Given the description of an element on the screen output the (x, y) to click on. 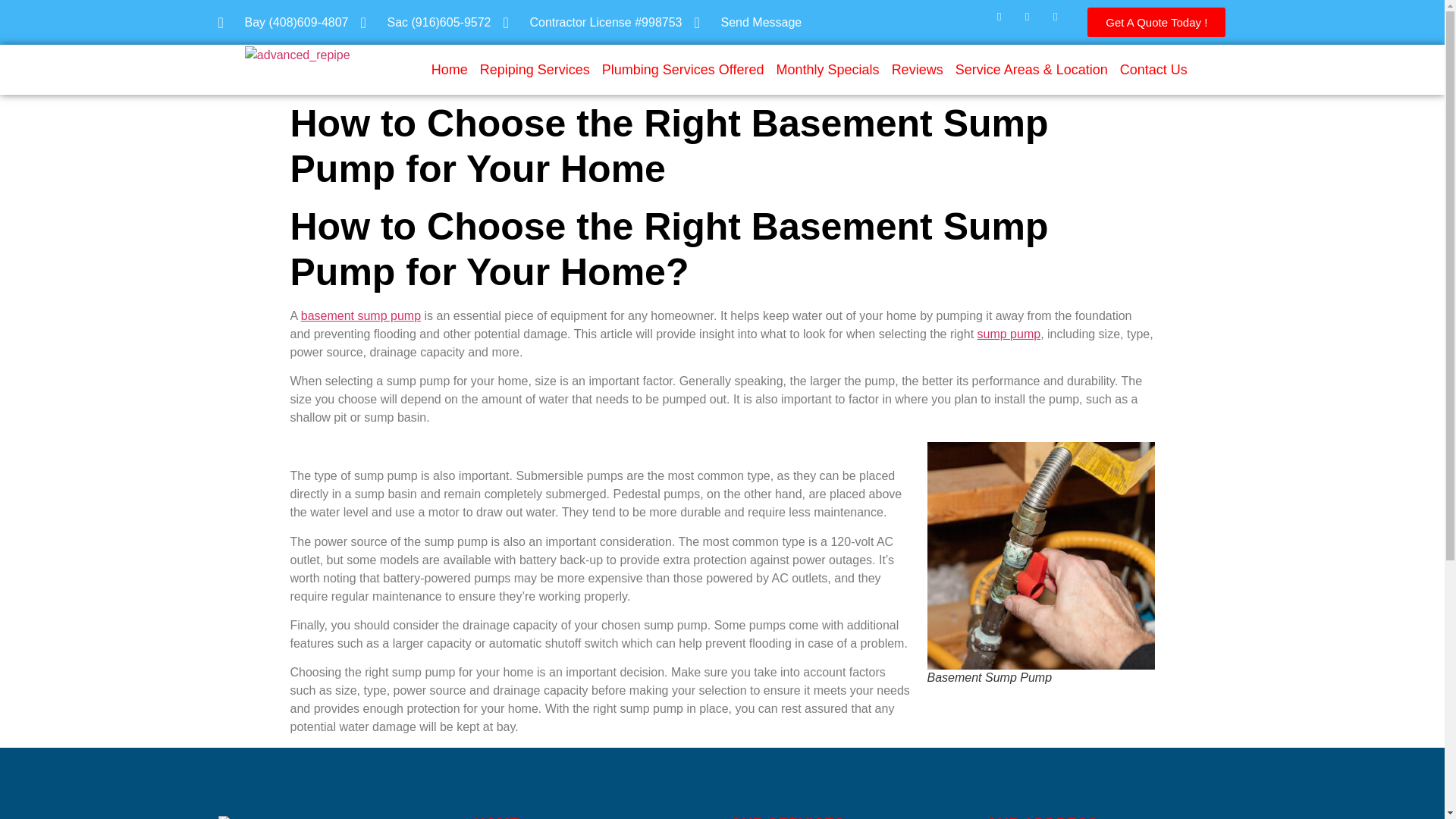
Reviews (917, 69)
Monthly Specials (827, 69)
Contact Us (1153, 69)
Plumbing Services Offered (682, 69)
Repiping Services (534, 69)
Home (449, 69)
Get A Quote Today ! (1156, 21)
Send Message (748, 22)
